Given the description of an element on the screen output the (x, y) to click on. 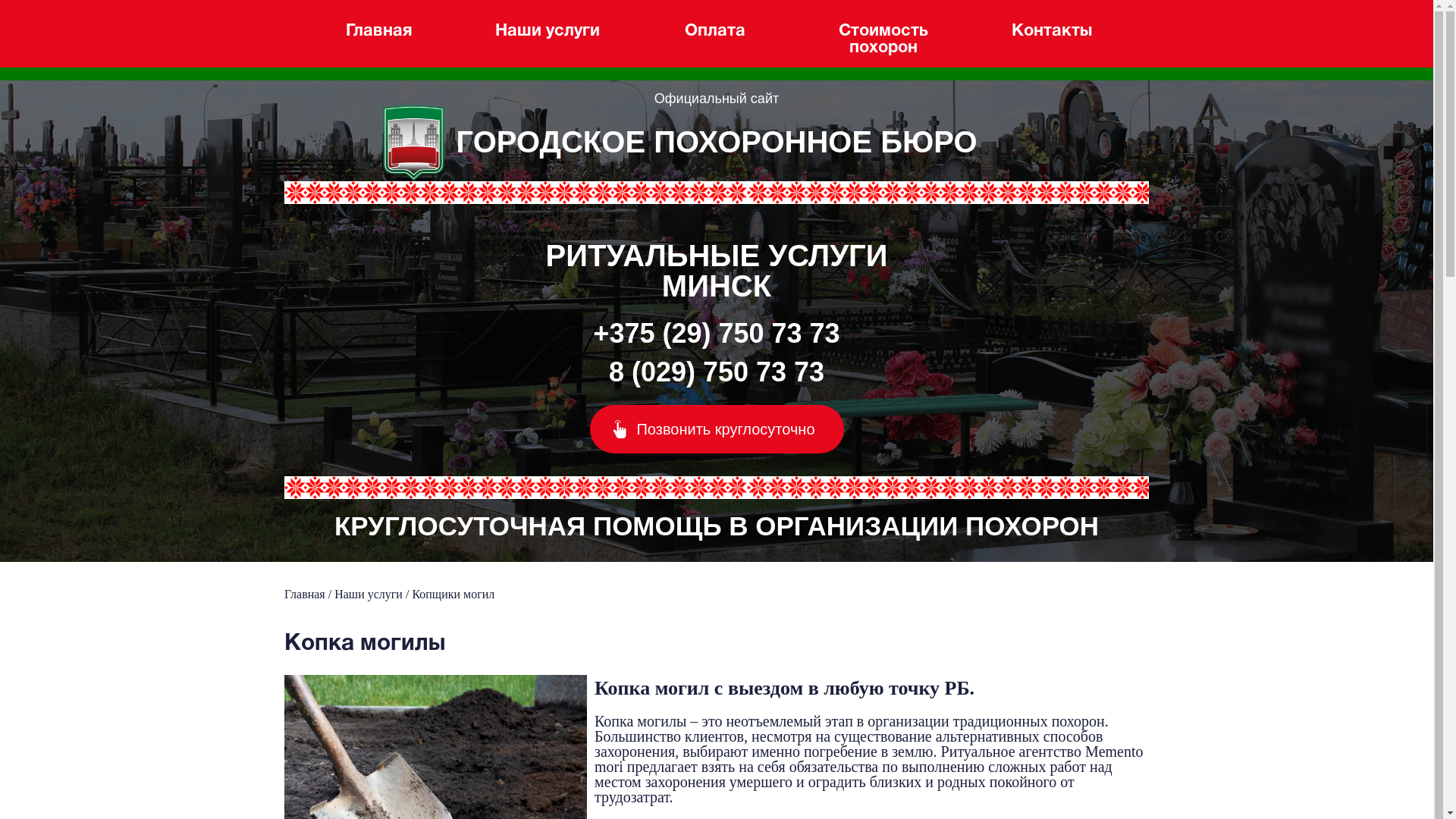
+375 (29) 750 73 73 Element type: text (716, 333)
8 (029) 750 73 73 Element type: text (716, 371)
